Given the description of an element on the screen output the (x, y) to click on. 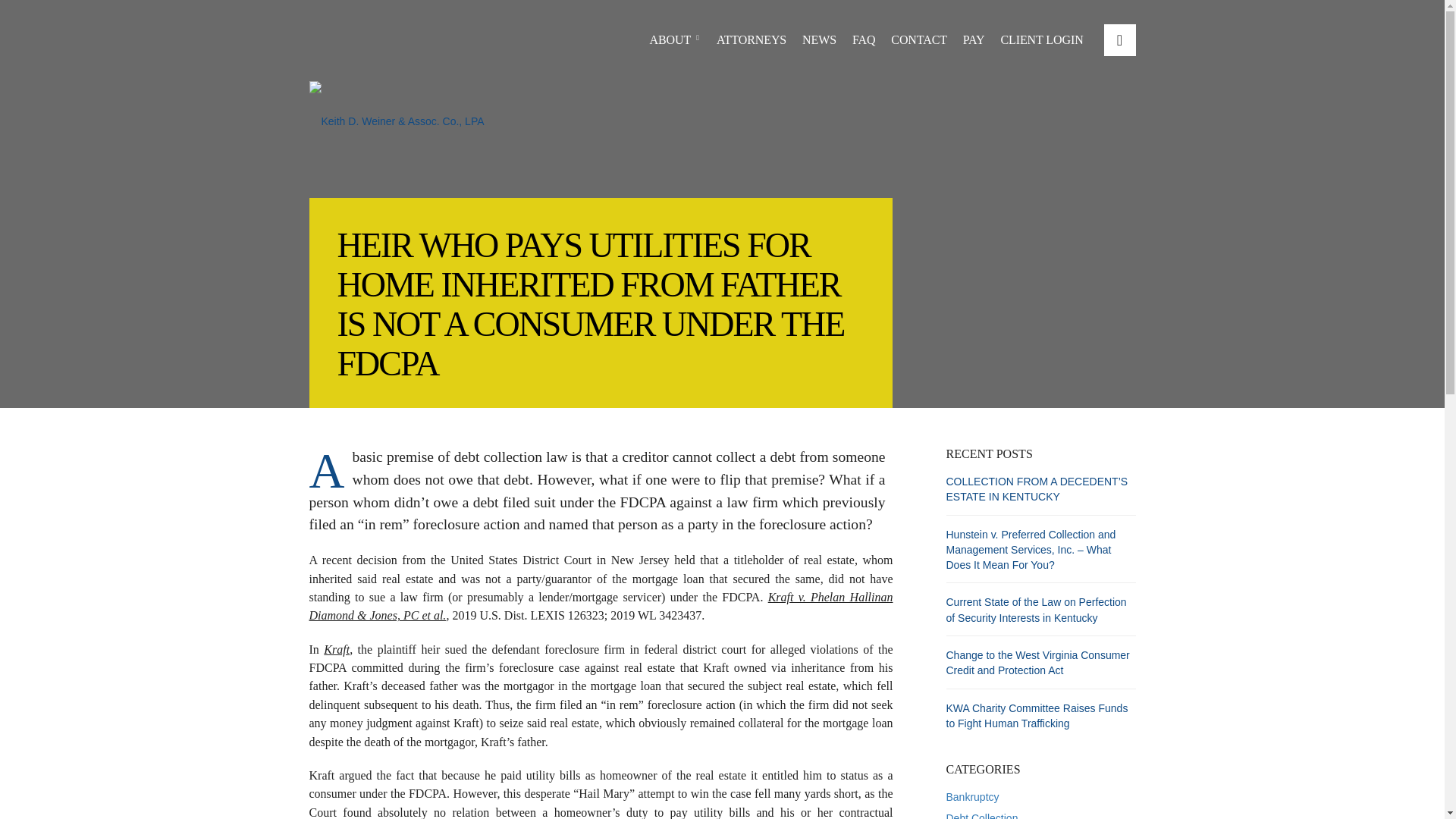
CLIENT LOGIN (1041, 40)
LINKEDIN (1119, 40)
